Given the description of an element on the screen output the (x, y) to click on. 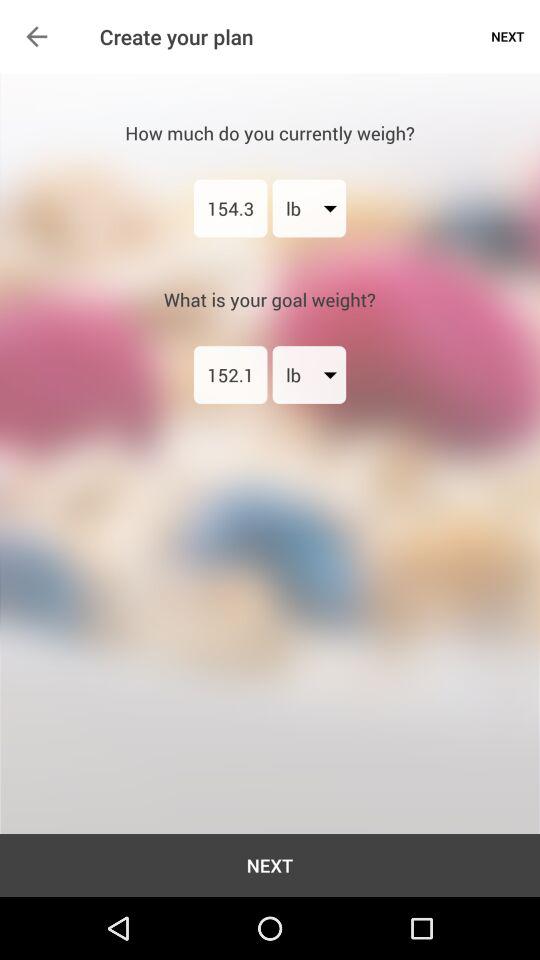
turn off the icon to the left of the lb (230, 208)
